Given the description of an element on the screen output the (x, y) to click on. 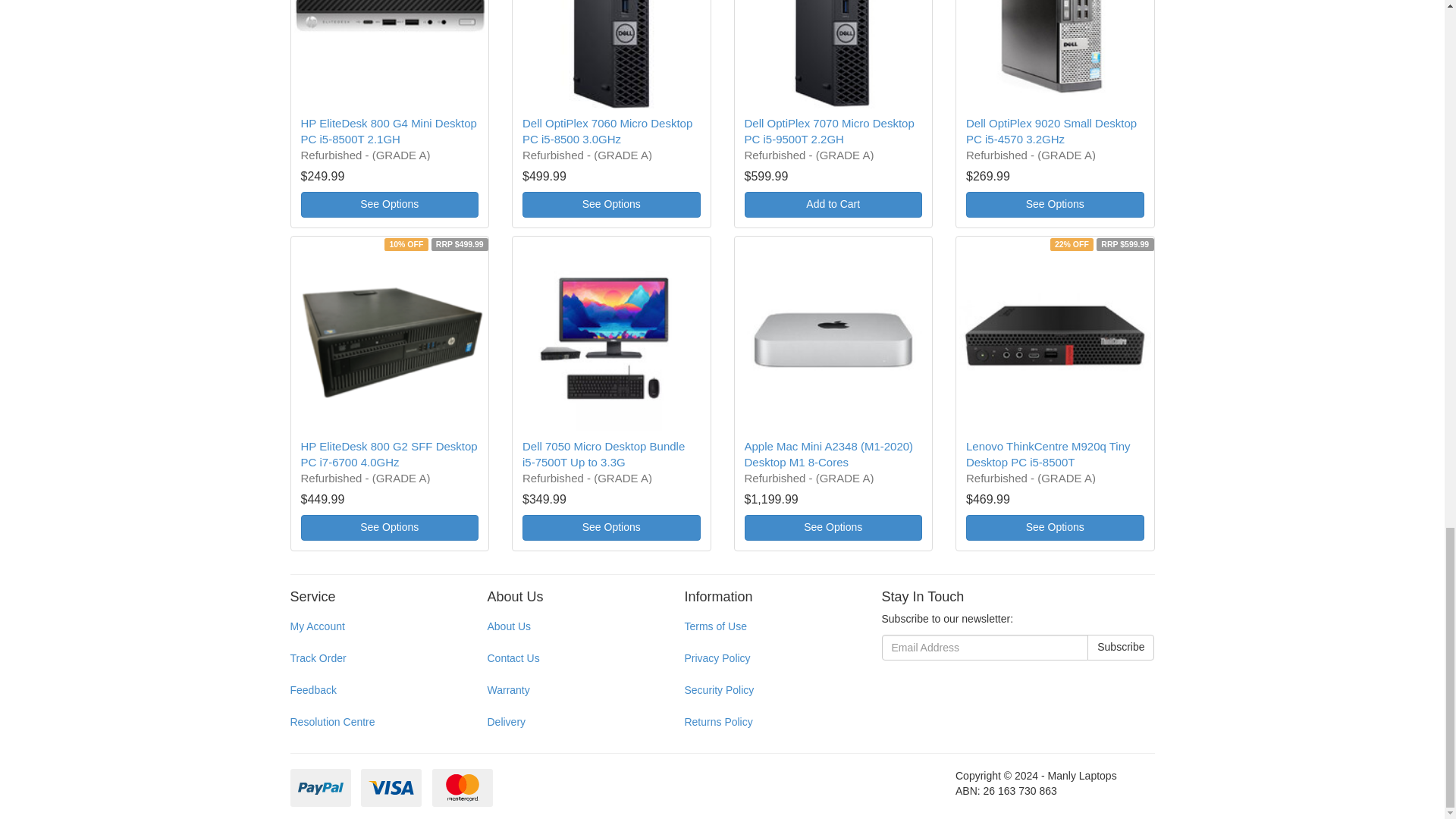
Subscribe (1120, 647)
